Given the description of an element on the screen output the (x, y) to click on. 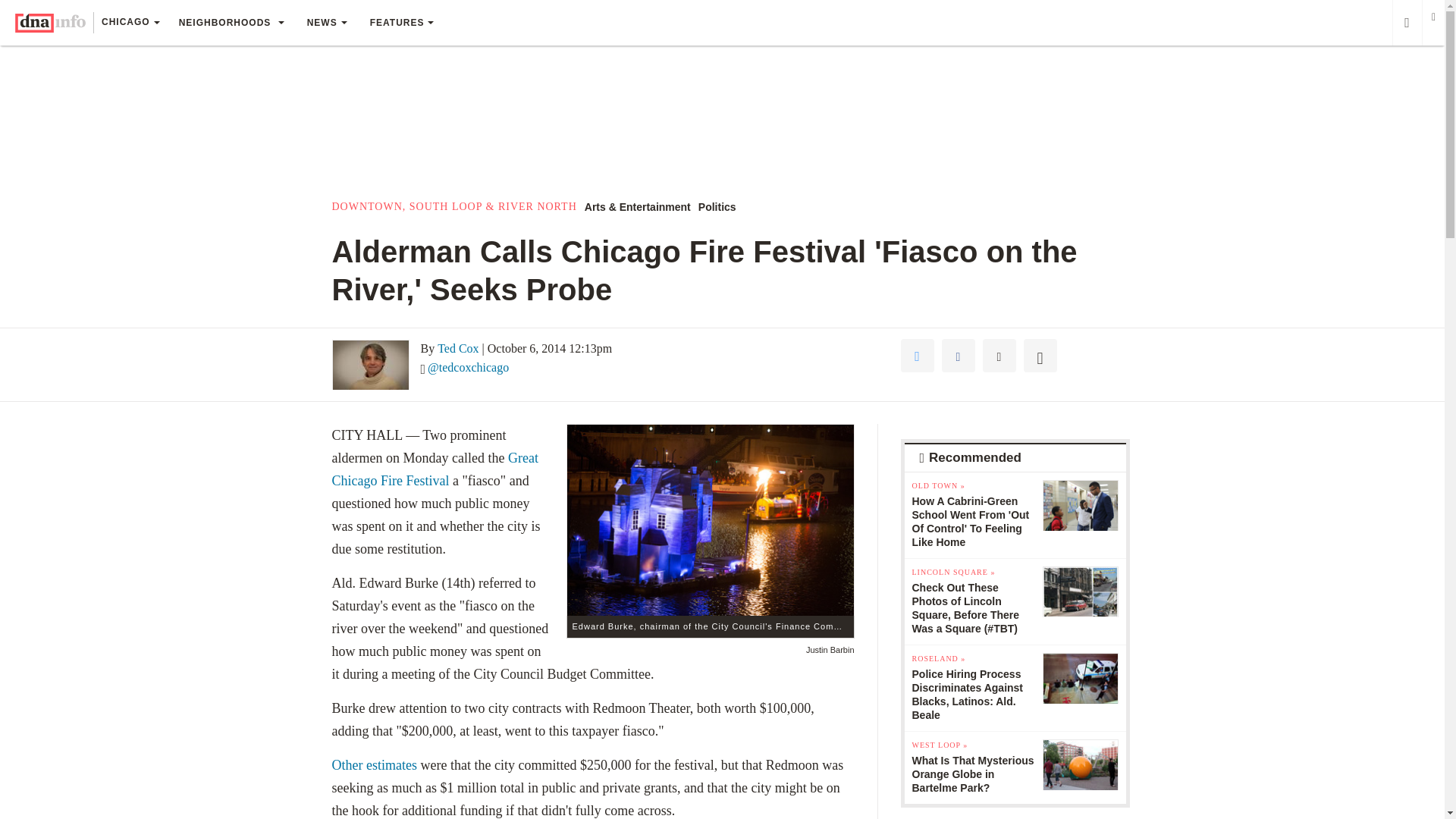
FEATURES (401, 22)
CHICAGO (130, 23)
NEWS (326, 22)
Chicago - Home (49, 22)
NEIGHBORHOODS (231, 22)
